Given the description of an element on the screen output the (x, y) to click on. 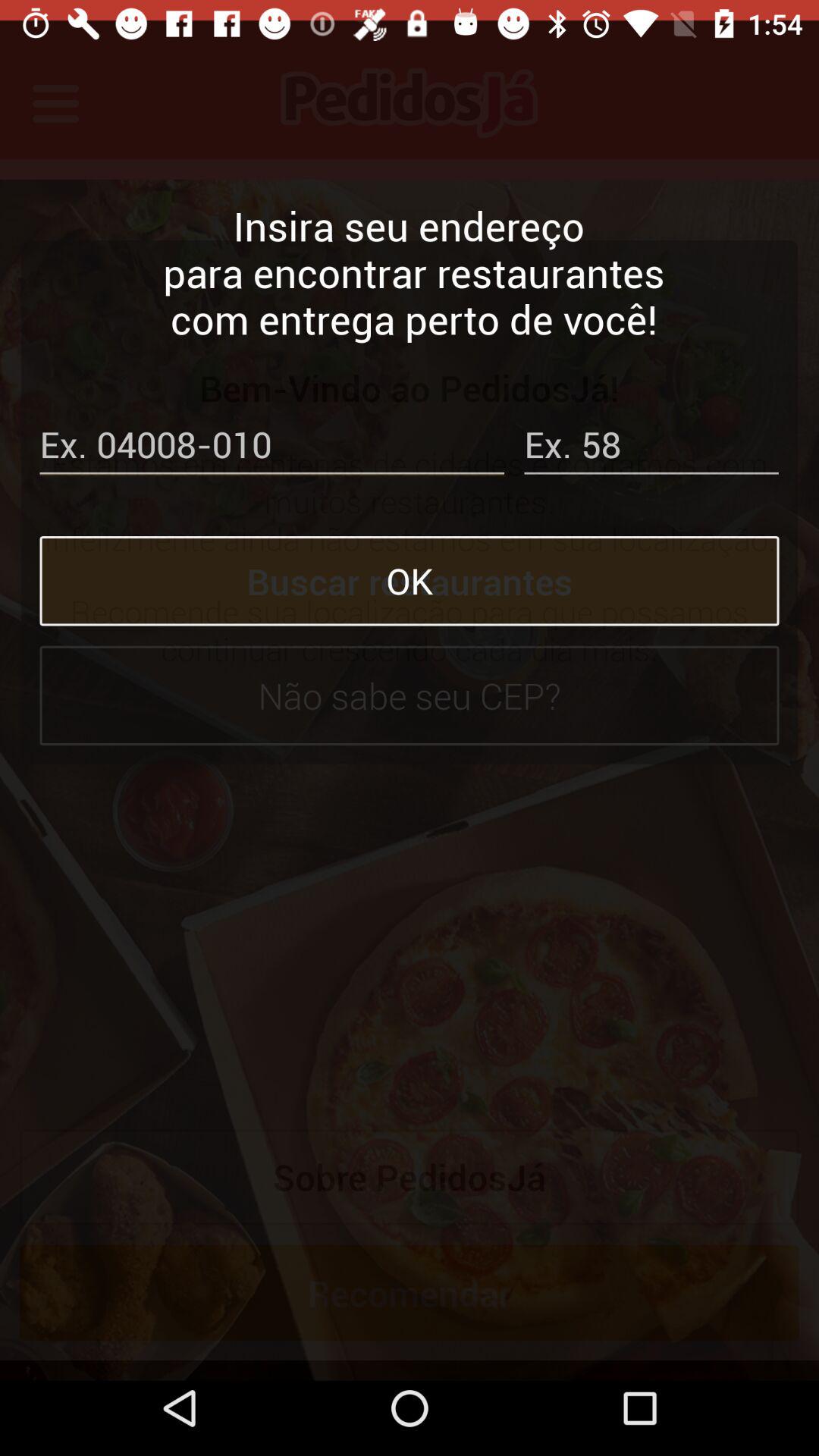
launch the buscar restaurantes icon (409, 560)
